Given the description of an element on the screen output the (x, y) to click on. 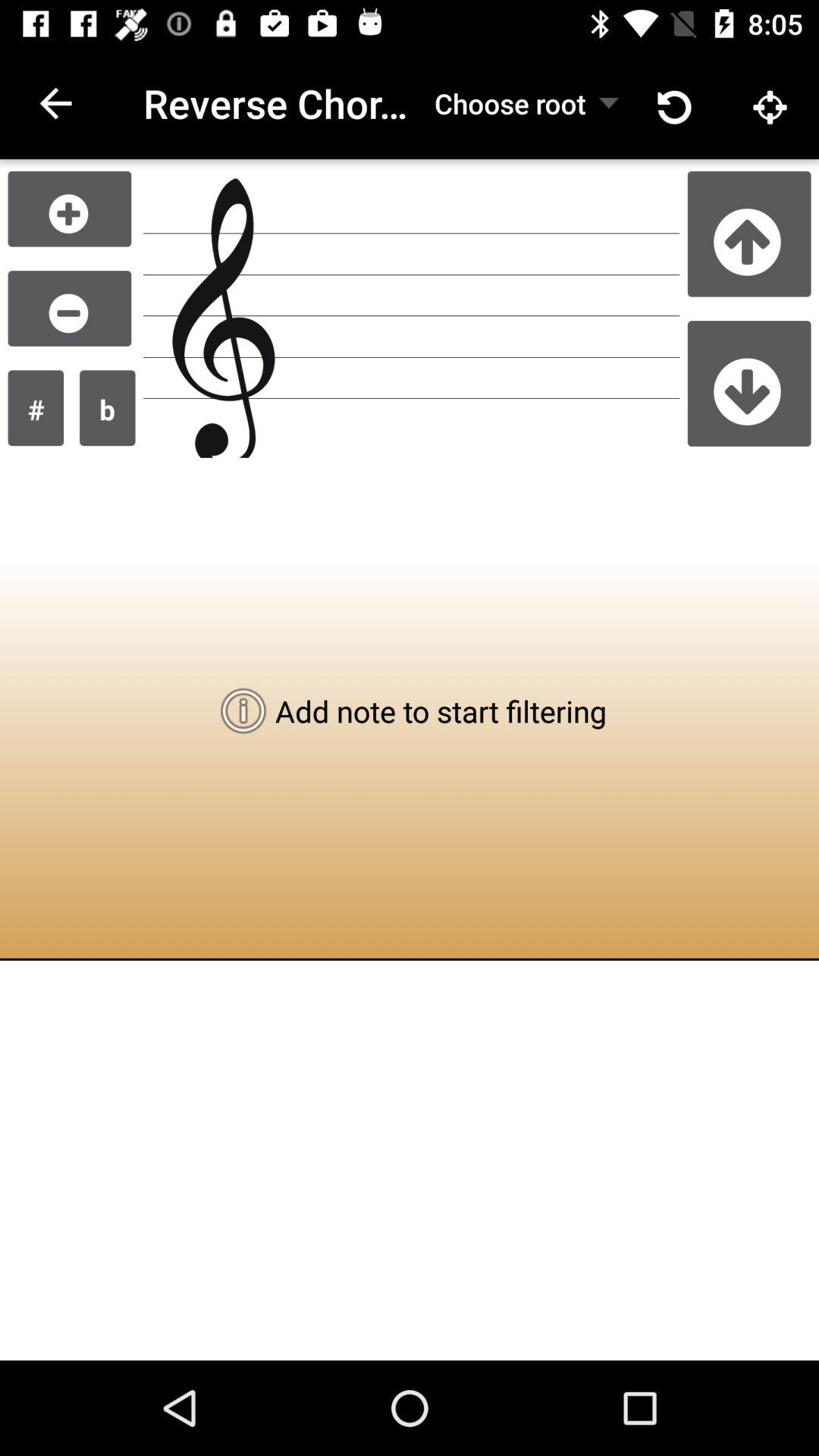
go up (749, 233)
